Given the description of an element on the screen output the (x, y) to click on. 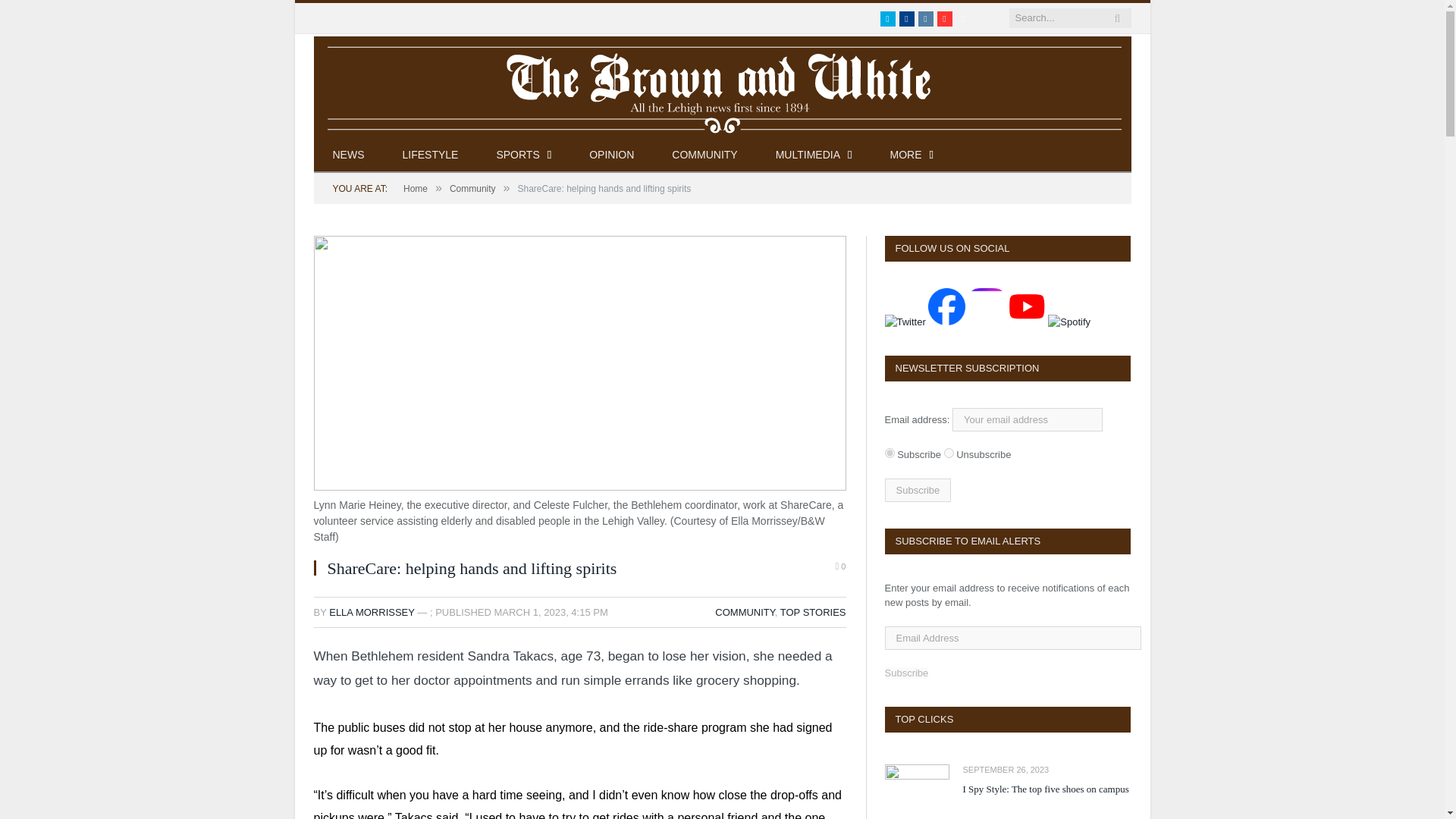
MULTIMEDIA (813, 155)
Instagram (925, 18)
Spotify (963, 18)
Twitter (887, 18)
Spotify (963, 18)
Facebook (906, 18)
Facebook (906, 18)
NEWS (349, 155)
